Given the description of an element on the screen output the (x, y) to click on. 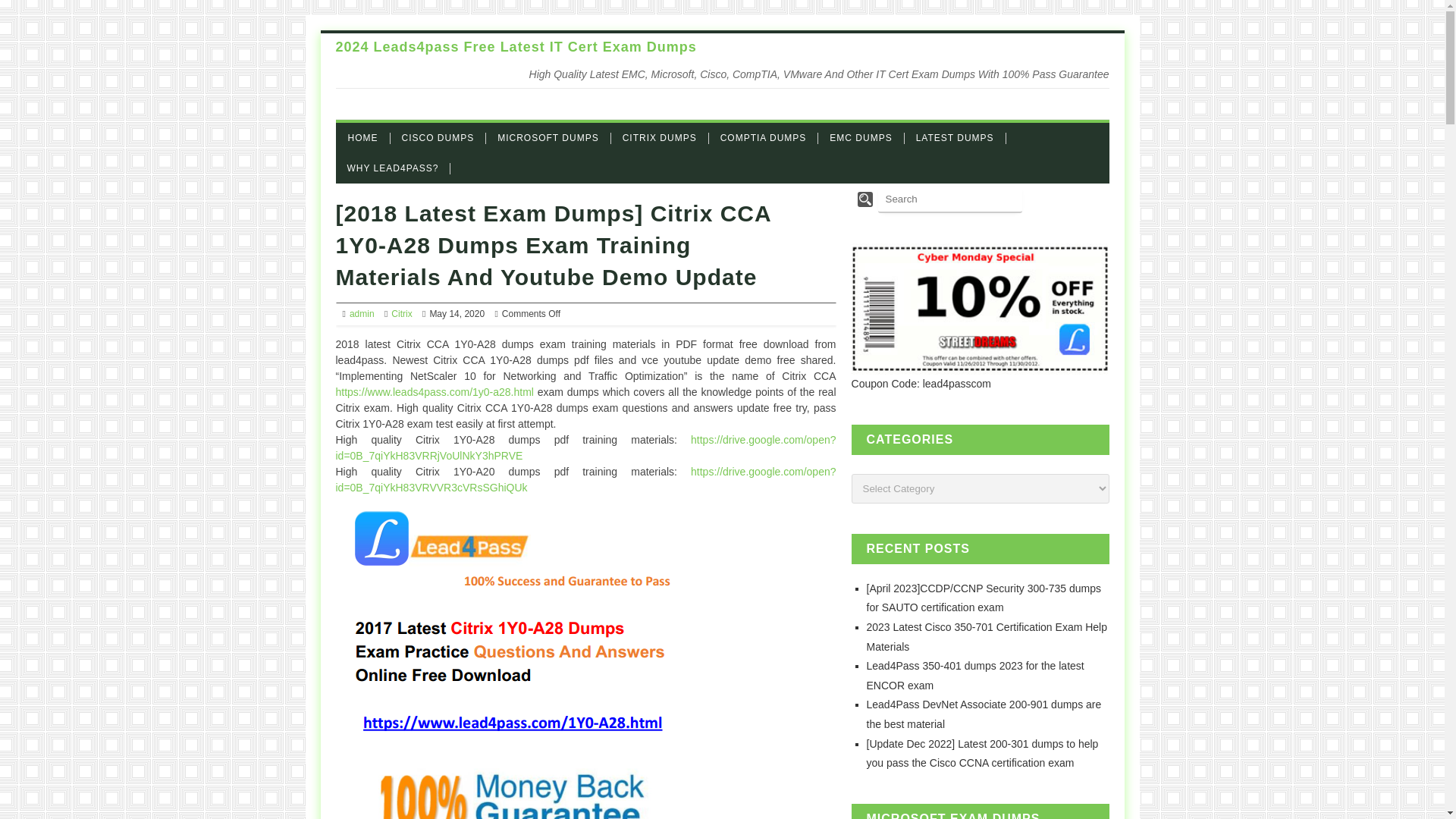
Lead4Pass 350-401 dumps 2023 for the latest ENCOR exam (975, 675)
2023 Latest Cisco 350-701 Certification Exam Help Materials (987, 636)
WHY LEAD4PASS? (399, 167)
Coupon Code: lead4passcom (921, 383)
CISCO DUMPS (443, 137)
HOME (368, 137)
admin (361, 313)
COMPTIA DUMPS (769, 137)
CITRIX DUMPS (666, 137)
MICROSOFT DUMPS (553, 137)
Citrix (401, 313)
Posts by admin (361, 313)
LATEST DUMPS (960, 137)
EMC DUMPS (866, 137)
